Given the description of an element on the screen output the (x, y) to click on. 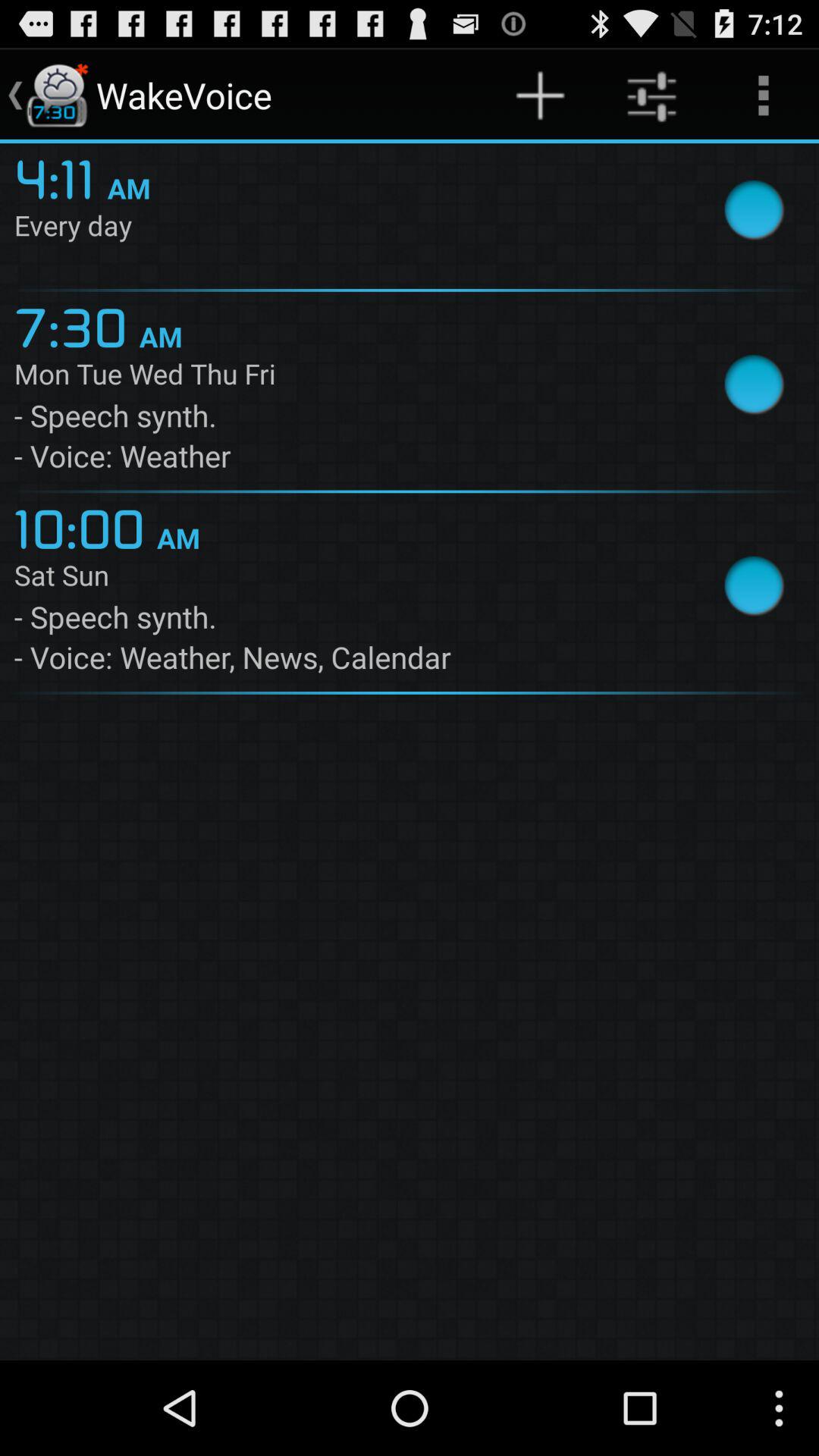
tap icon below - voice: weather app (85, 526)
